Given the description of an element on the screen output the (x, y) to click on. 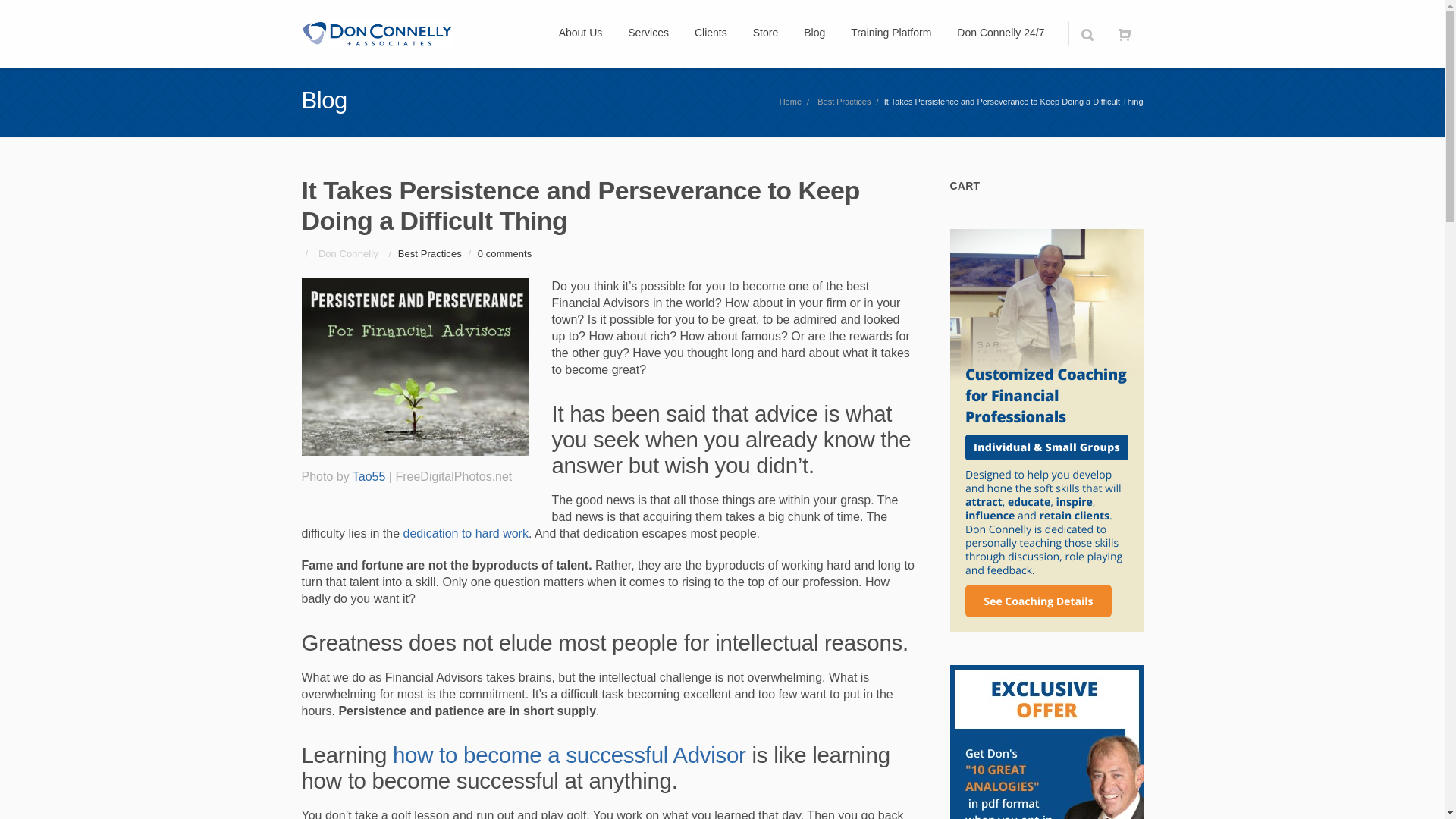
how to become a successful Advisor (569, 754)
Best Practices (843, 101)
Search (1086, 33)
dedication to hard work (465, 533)
dedication to hard work (465, 533)
Tao55 (368, 476)
Training Platform (890, 33)
how to become a successful Advisor (569, 754)
Home (790, 101)
Best Practices (429, 253)
